Given the description of an element on the screen output the (x, y) to click on. 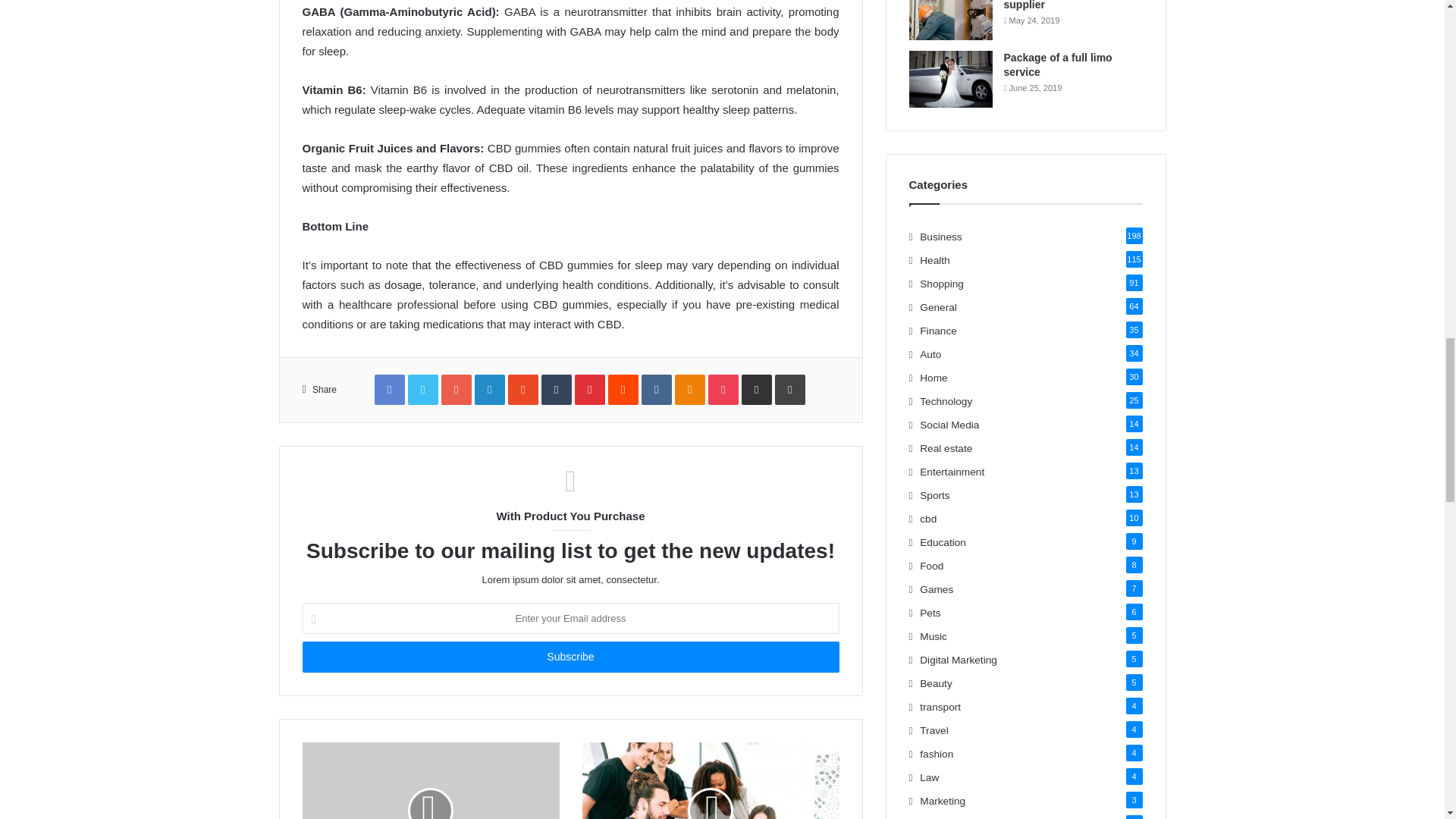
Twitter (422, 389)
StumbleUpon (523, 389)
LinkedIn (489, 389)
Facebook (389, 389)
Subscribe (569, 656)
Tumblr (556, 389)
Pinterest (590, 389)
